Given the description of an element on the screen output the (x, y) to click on. 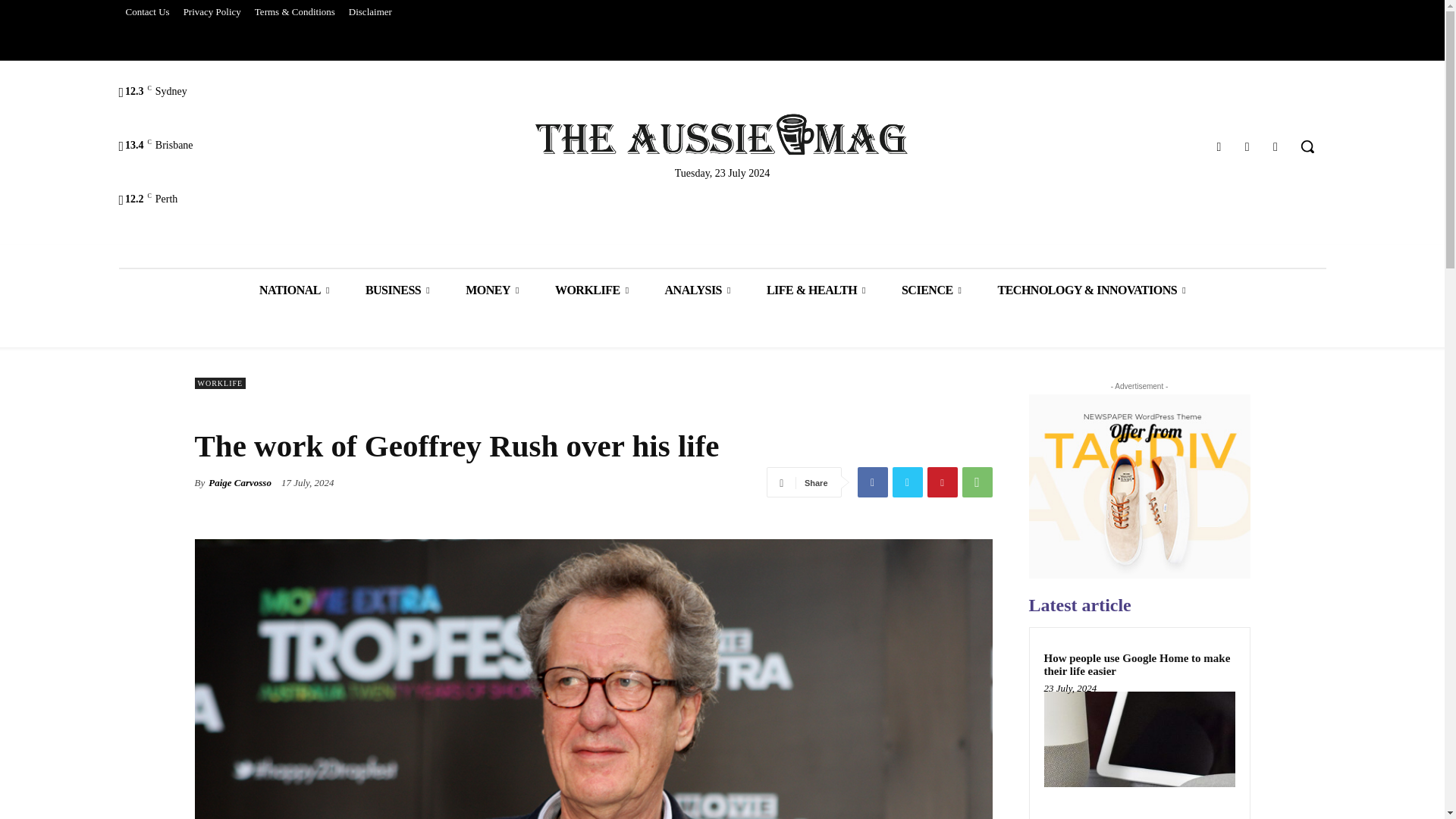
Disclaimer (370, 12)
Privacy Policy (211, 12)
Contact Us (146, 12)
Twitter (1246, 146)
Facebook (1218, 146)
Youtube (1275, 146)
NATIONAL (294, 290)
